Given the description of an element on the screen output the (x, y) to click on. 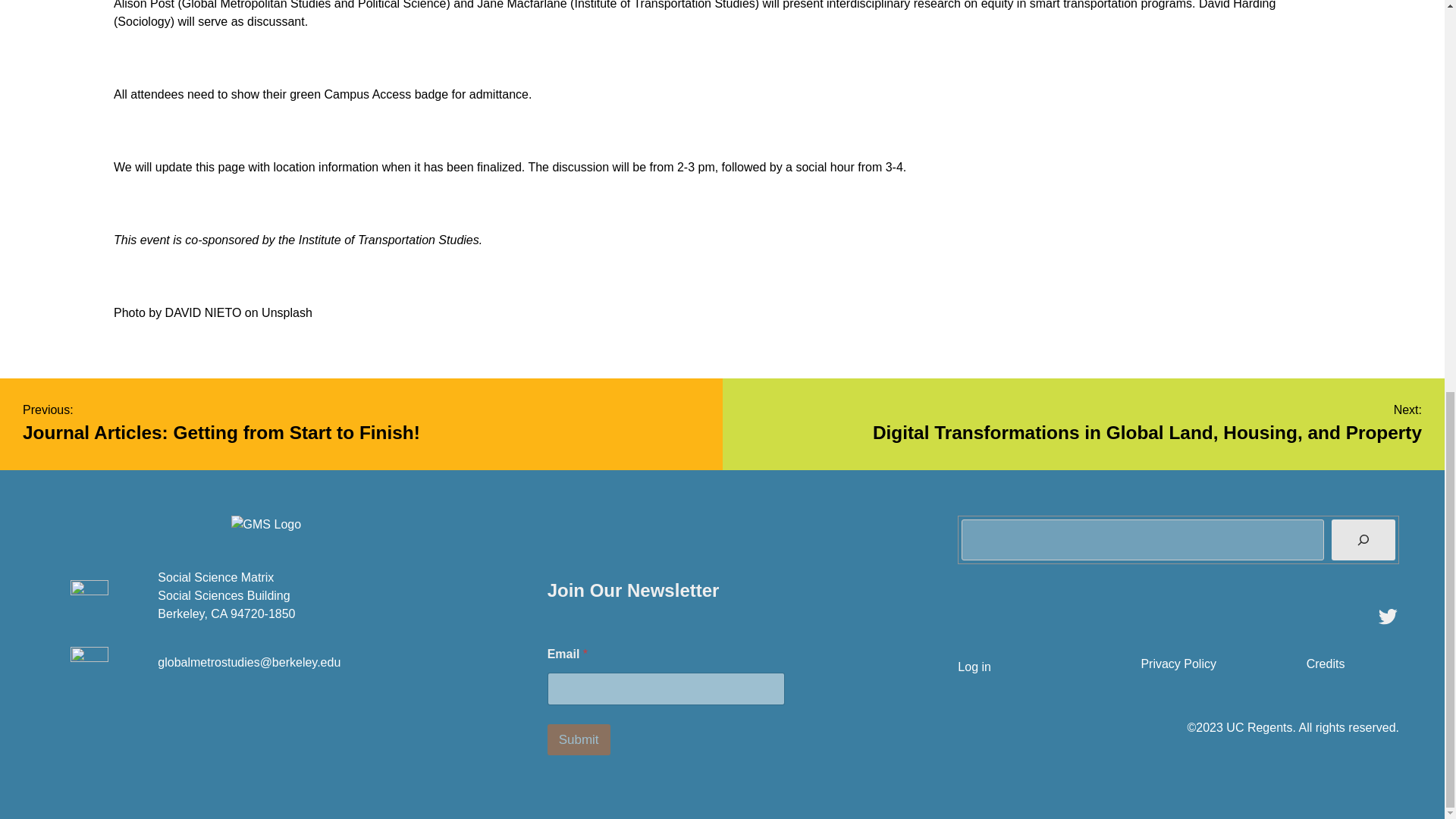
Submit (578, 739)
Twitter (1387, 616)
DAVID NIETO (203, 312)
Credits (1325, 663)
Privacy Policy (1177, 663)
Unsplash (287, 312)
Log in (361, 425)
